Given the description of an element on the screen output the (x, y) to click on. 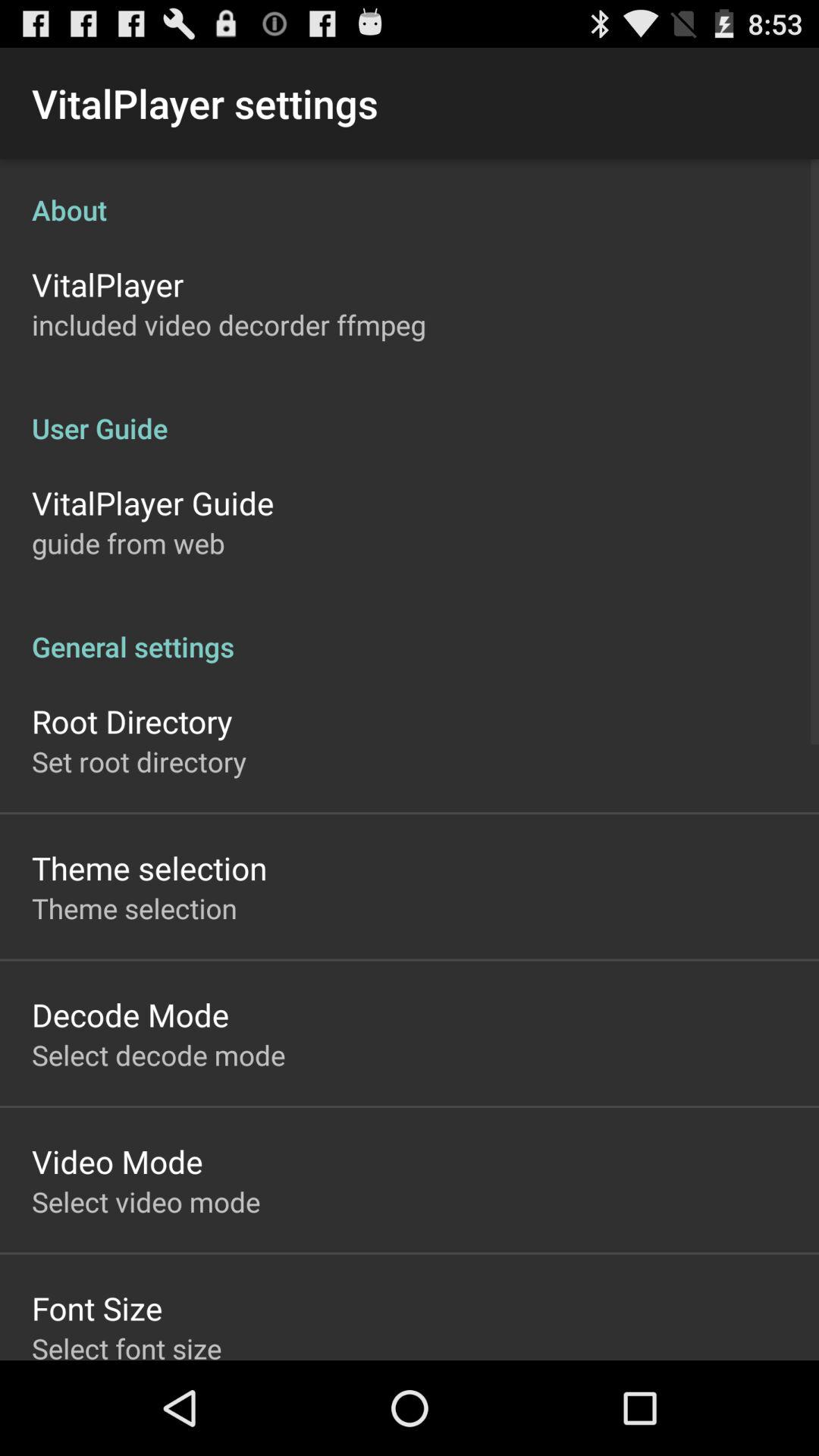
open app at the center (409, 630)
